Given the description of an element on the screen output the (x, y) to click on. 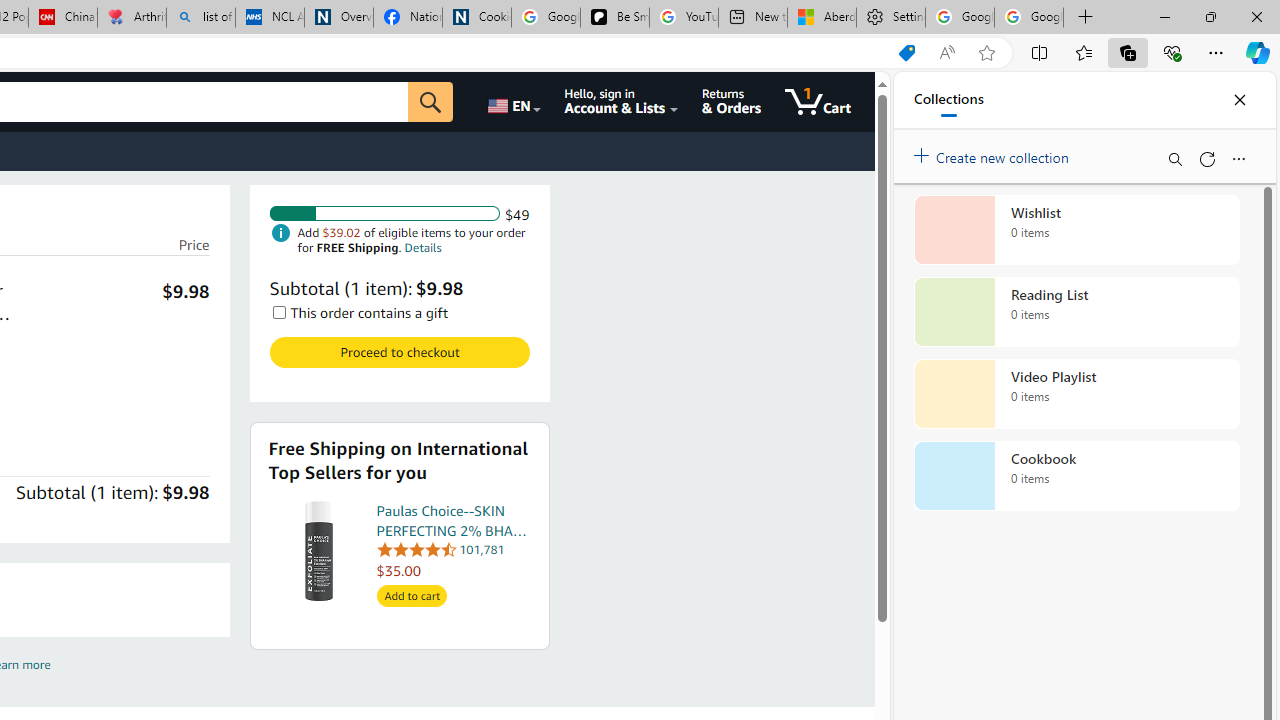
More options menu (1238, 158)
Add to cart (411, 596)
Returns & Orders (731, 101)
This order contains a gift (278, 312)
